Given the description of an element on the screen output the (x, y) to click on. 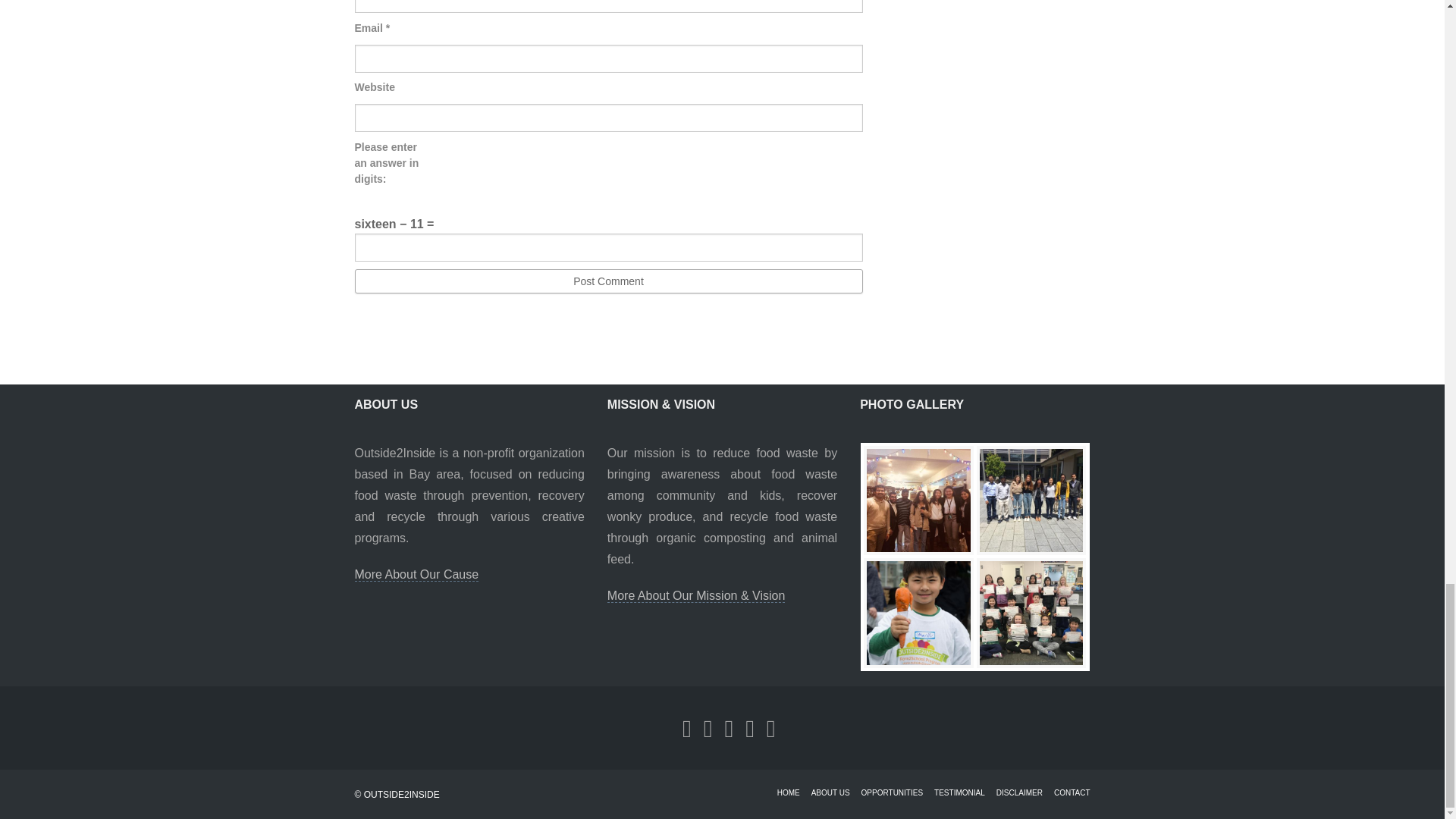
Farm2School Volunteer Appreciation Event (1031, 613)
Post Comment (609, 281)
O2I FEED Spring 2019 Project Completion Meeting (1031, 500)
Post Comment (609, 281)
Fall 2019 FEED Project Completion Meeting (917, 500)
